Given the description of an element on the screen output the (x, y) to click on. 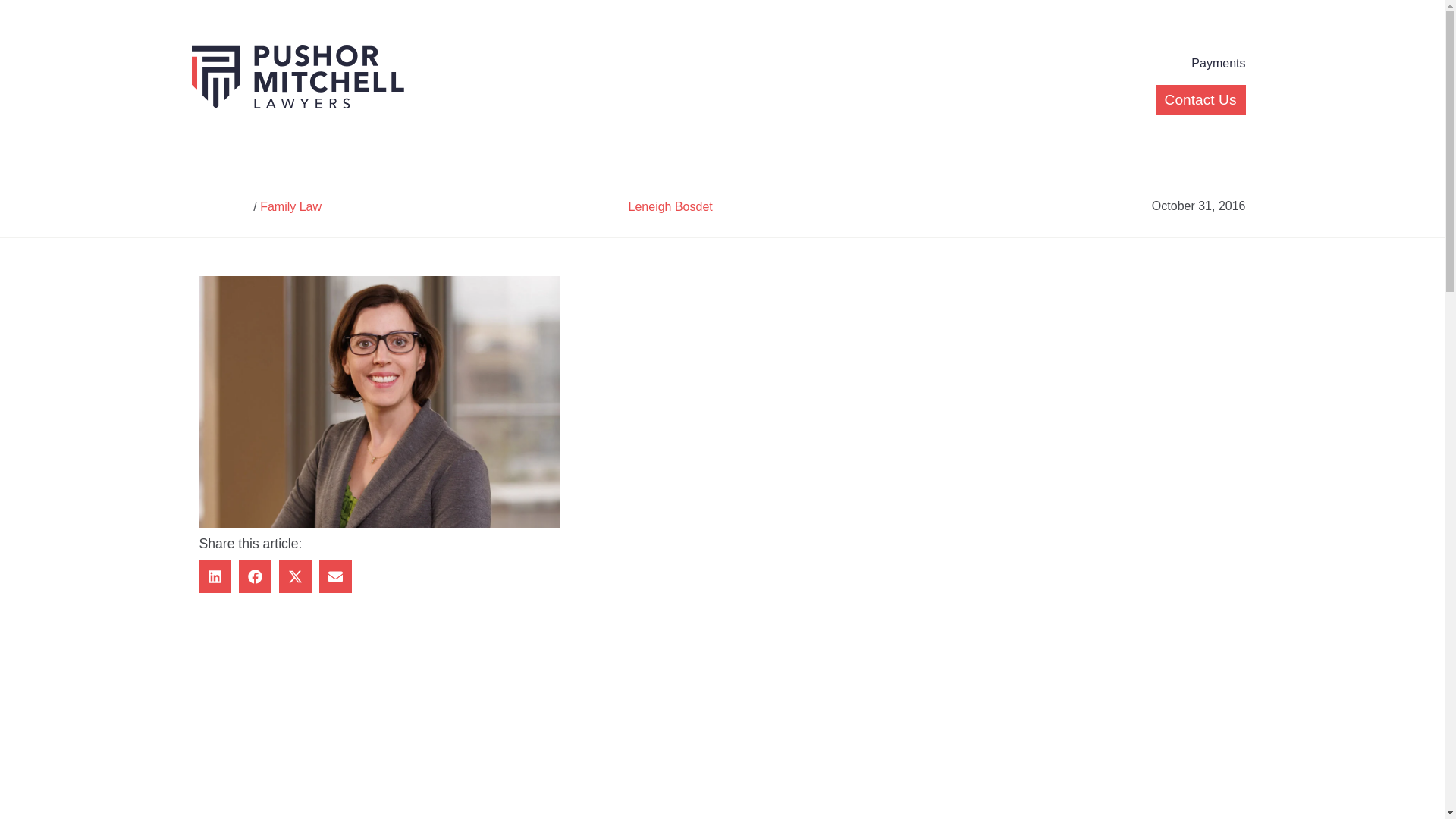
Leneigh Bosdet (670, 205)
Payments (1217, 63)
Posts by Leneigh Bosdet (670, 205)
Family Law (290, 205)
Contact Us (1201, 99)
